Given the description of an element on the screen output the (x, y) to click on. 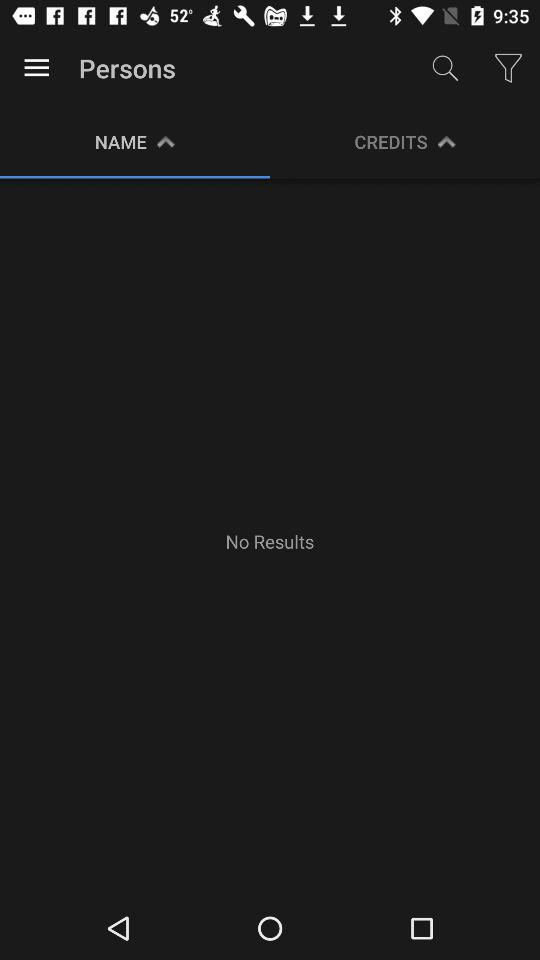
display menu (36, 68)
